Given the description of an element on the screen output the (x, y) to click on. 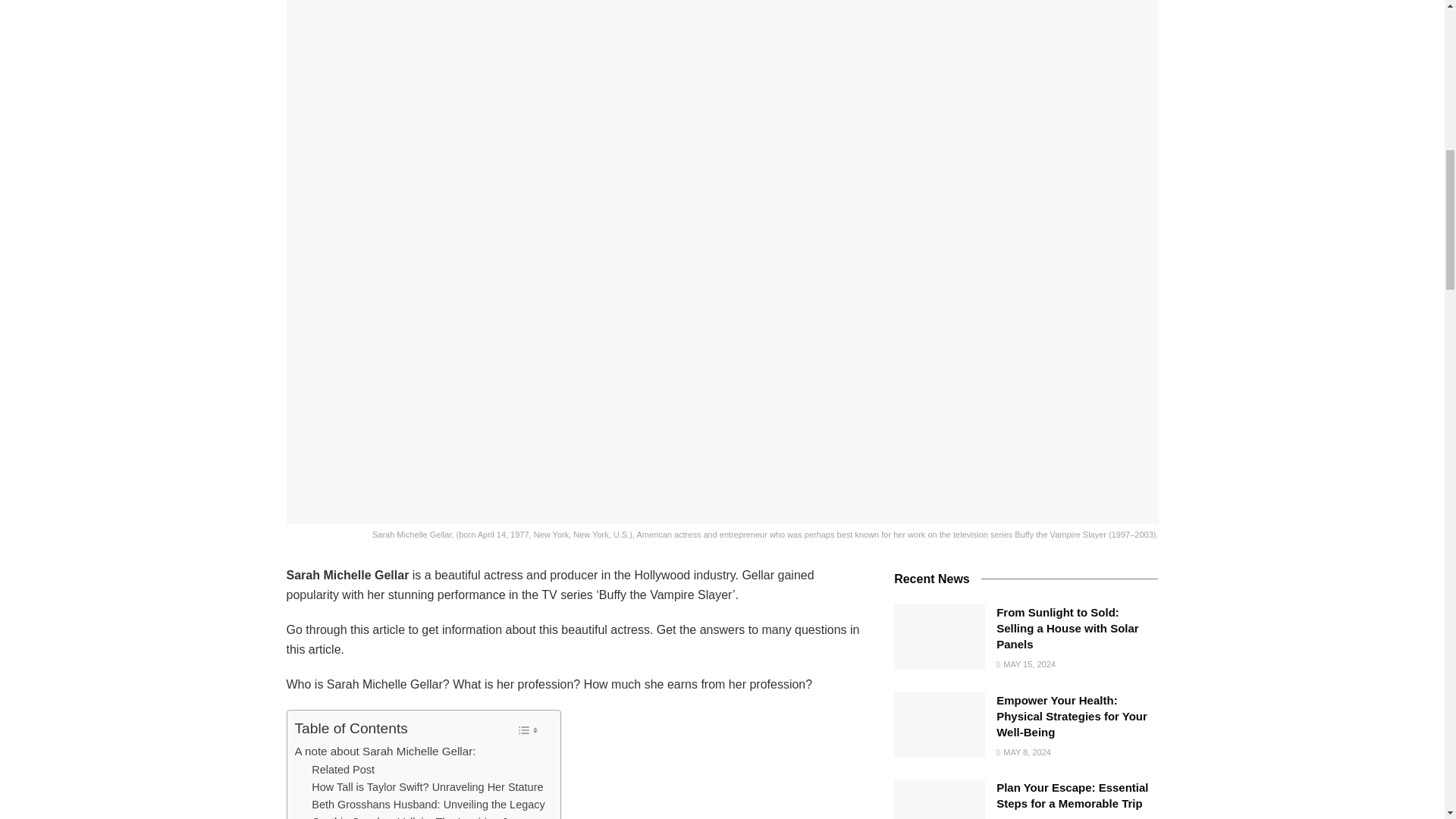
A note about Sarah Michelle Gellar: (385, 751)
Related Post (342, 769)
